Given the description of an element on the screen output the (x, y) to click on. 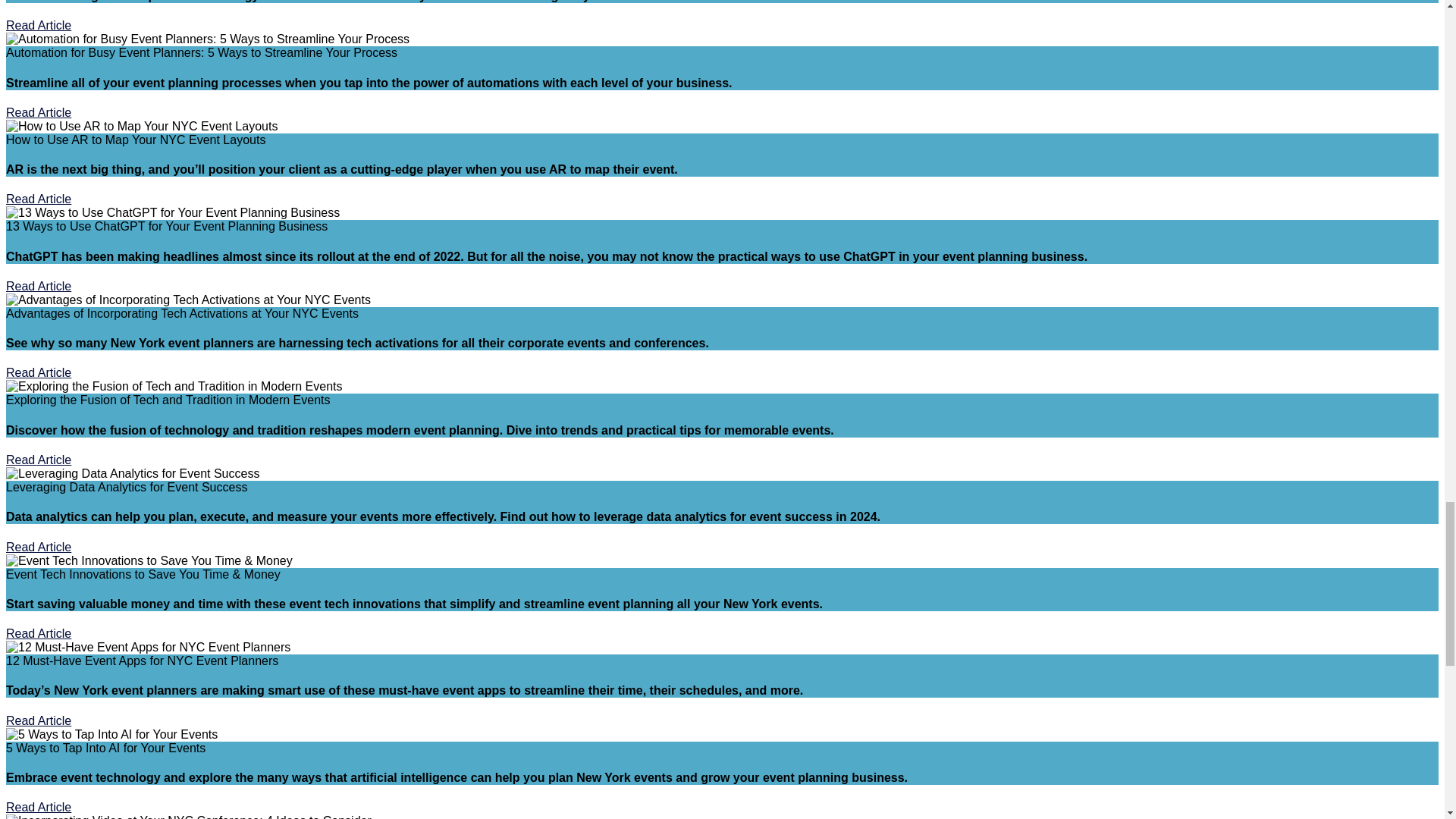
Read Article (38, 24)
